Given the description of an element on the screen output the (x, y) to click on. 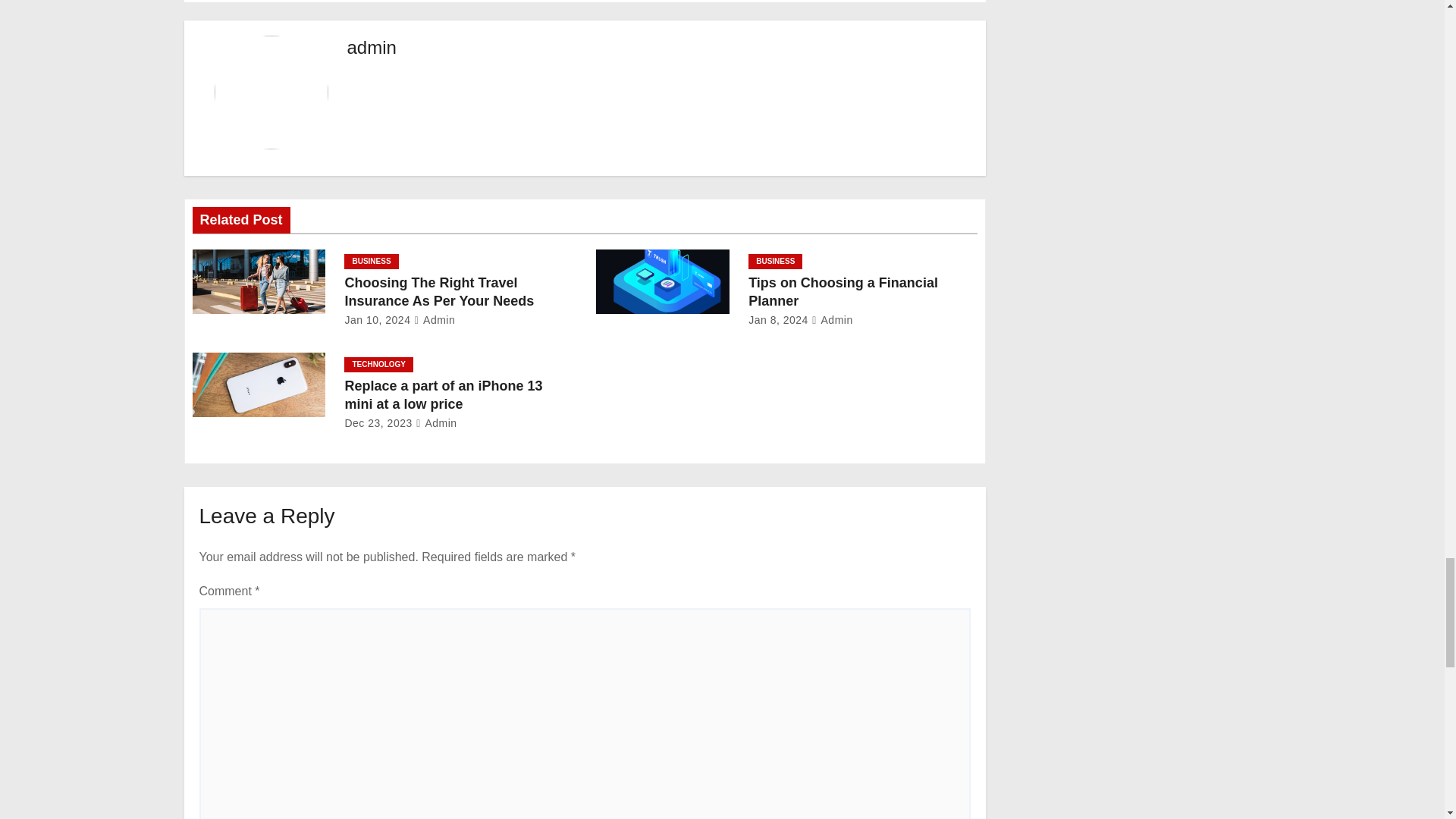
Permalink to: Tips on Choosing a Financial Planner (842, 291)
